Given the description of an element on the screen output the (x, y) to click on. 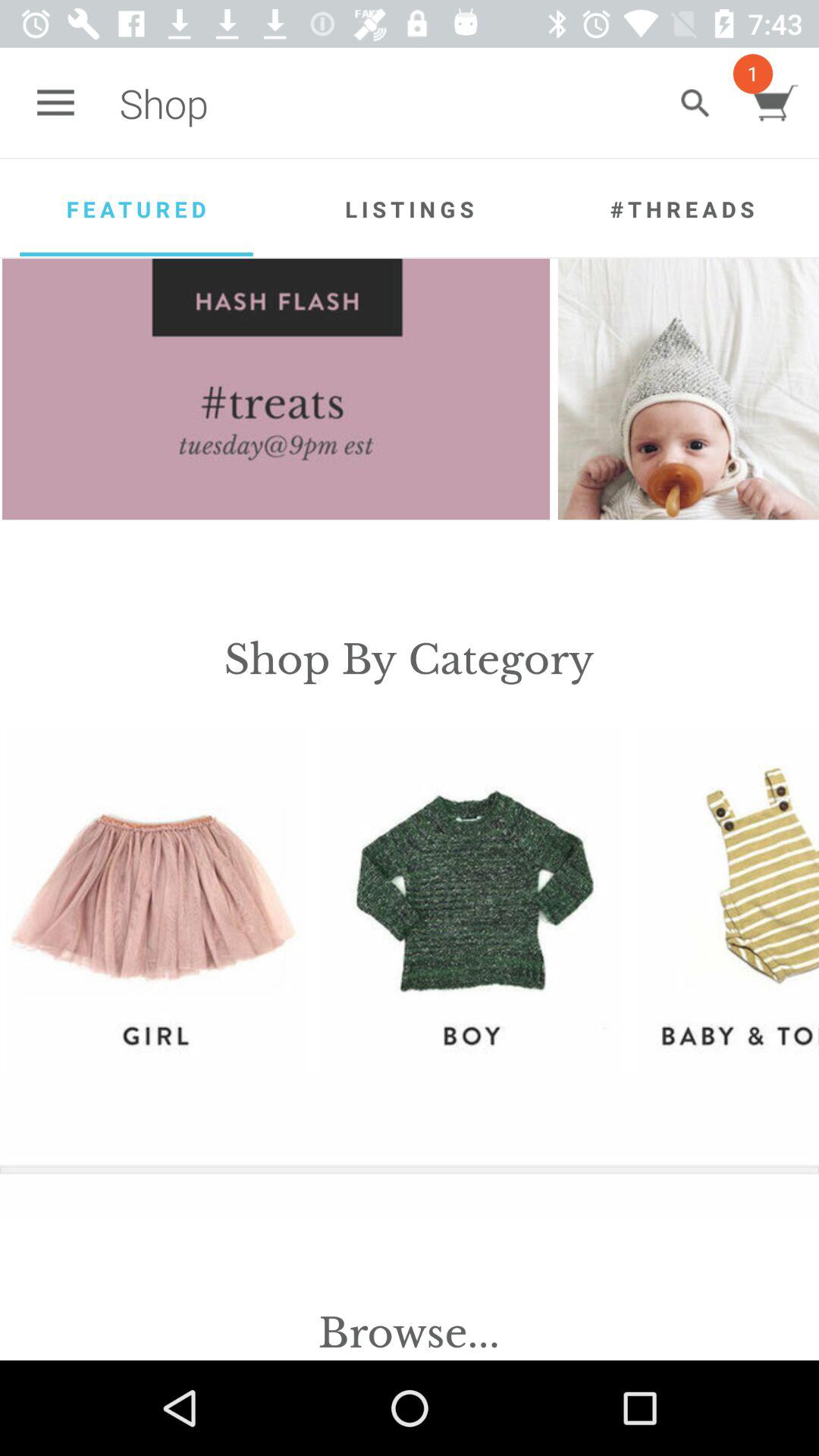
turn on icon next to shop icon (695, 103)
